Given the description of an element on the screen output the (x, y) to click on. 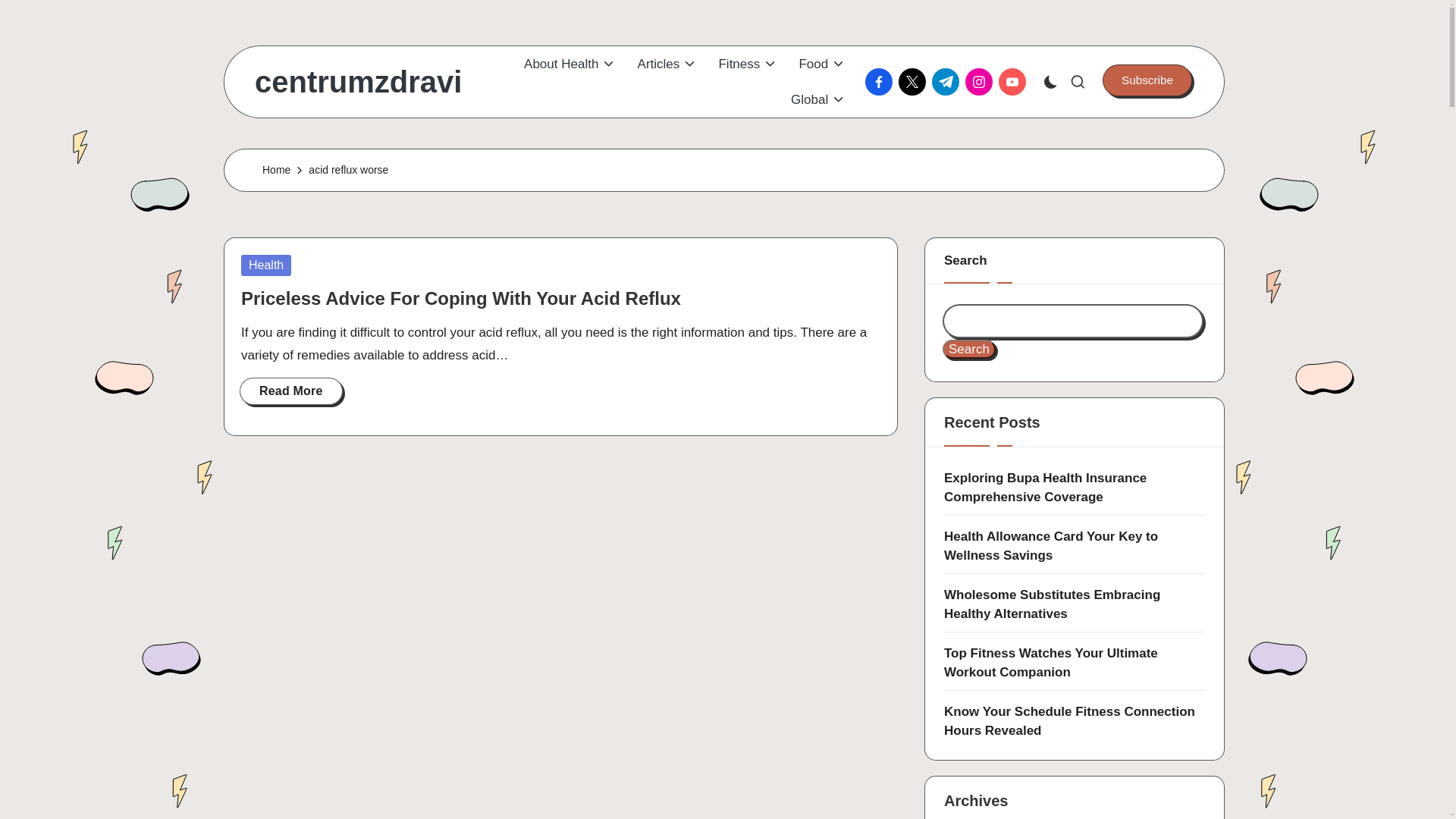
centrumzdravi (357, 81)
Articles (667, 63)
About Health (569, 63)
Priceless Advice For Coping With Your Acid Reflux (461, 298)
